Given the description of an element on the screen output the (x, y) to click on. 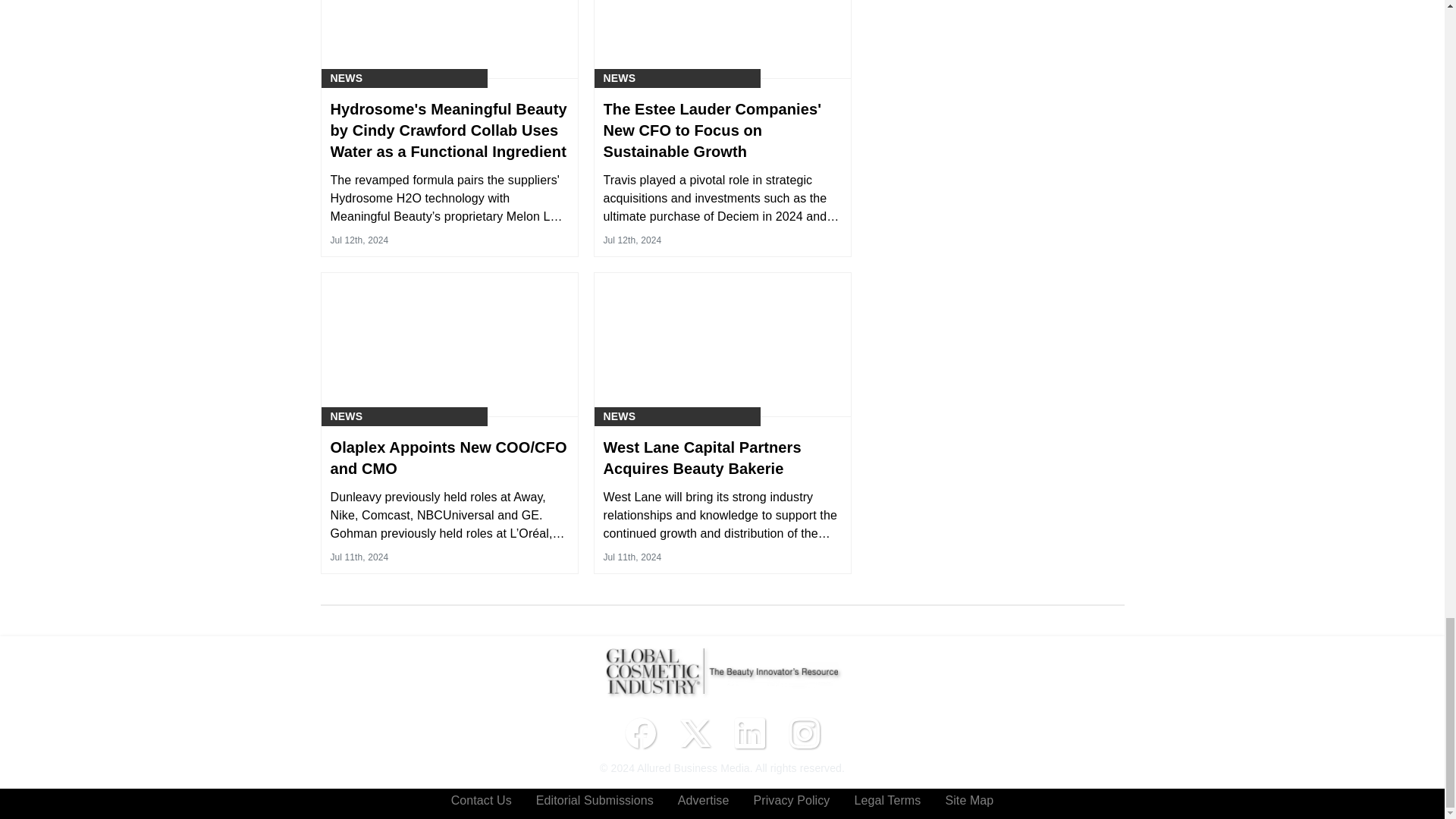
Facebook icon (639, 733)
Twitter X icon (694, 733)
Instagram icon (803, 733)
LinkedIn icon (748, 733)
